Given the description of an element on the screen output the (x, y) to click on. 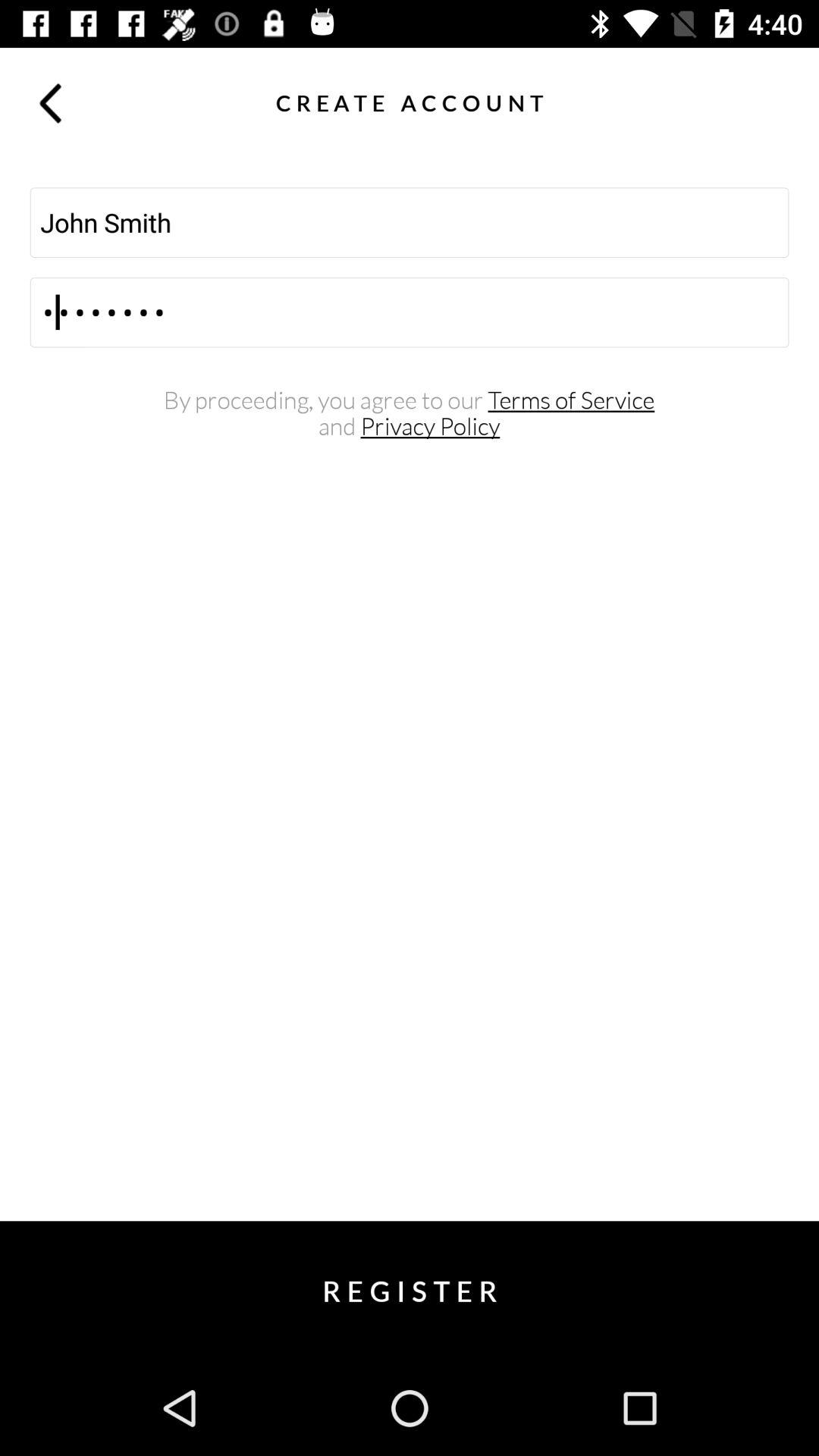
flip until the and privacy policy item (408, 426)
